Given the description of an element on the screen output the (x, y) to click on. 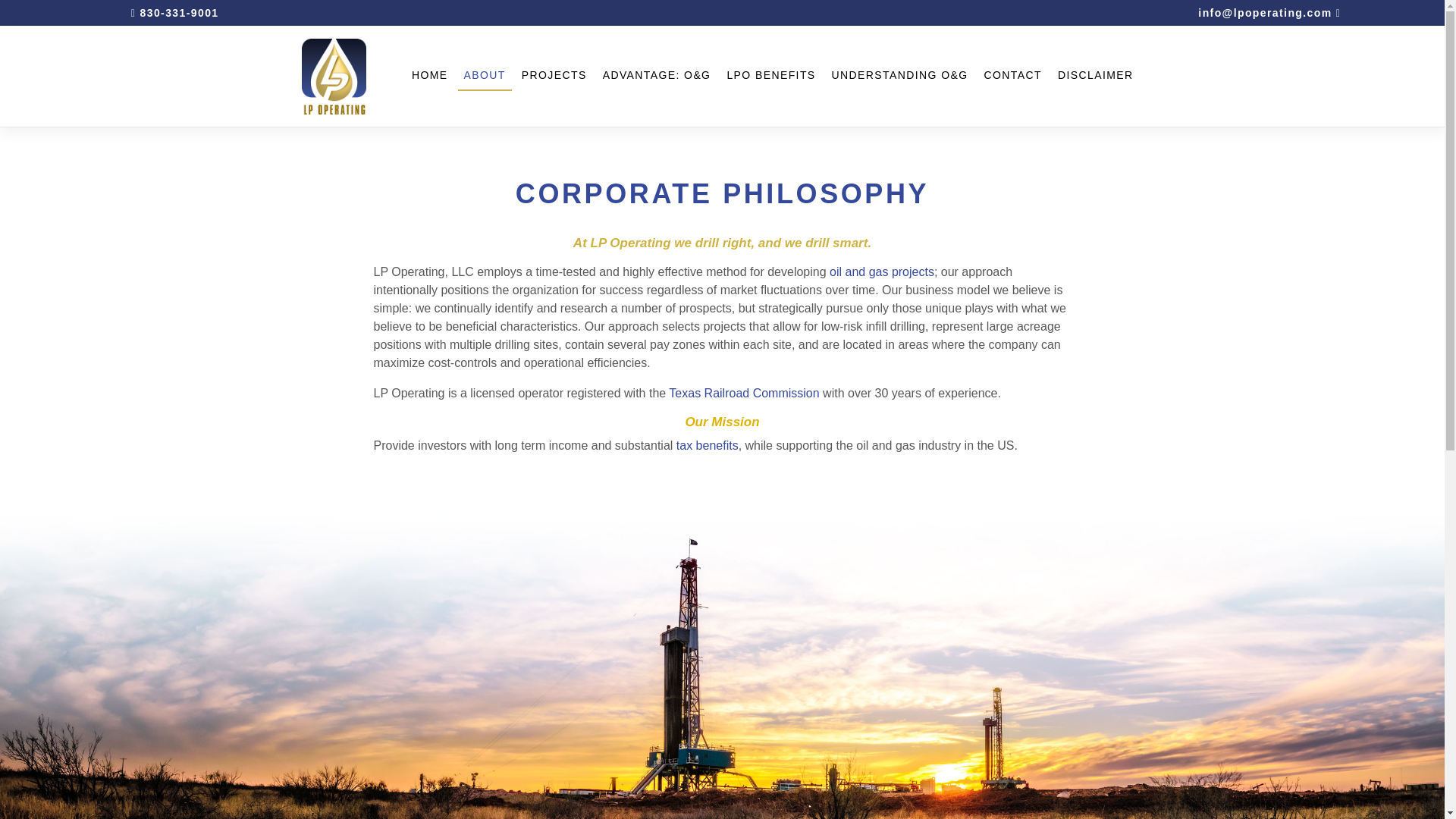
tax benefits (707, 445)
Contact (1011, 75)
ABOUT (485, 75)
DISCLAIMER (1095, 75)
CONTACT (1011, 75)
Texas Railroad Commission (743, 392)
LPO Benefits (770, 75)
Projects (553, 75)
oil and gas projects (881, 271)
Home (430, 75)
About (485, 75)
PROJECTS (553, 75)
LPO BENEFITS (770, 75)
HOME (430, 75)
830-331-9001 (175, 12)
